Given the description of an element on the screen output the (x, y) to click on. 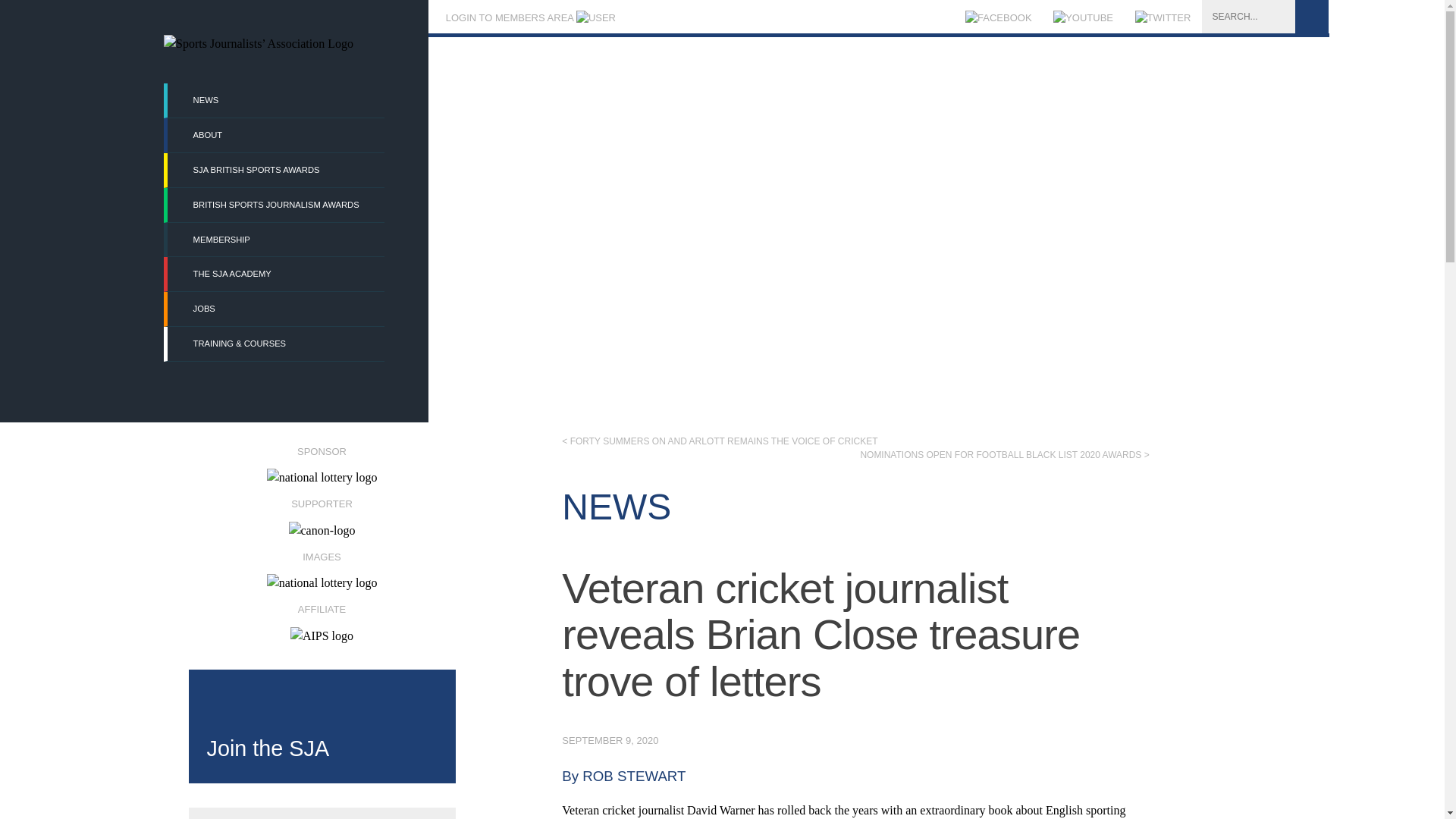
BRITISH SPORTS JOURNALISM AWARDS (275, 204)
AFFILIATE (320, 617)
Login to Members Area (529, 18)
MEMBERSHIP (275, 239)
LOGIN TO MEMBERS AREA (529, 18)
ABOUT (275, 134)
Facebook (998, 18)
SEPTEMBER 9, 2020 (610, 740)
YouTube (1083, 18)
SJA BRITISH SPORTS AWARDS (275, 170)
